Given the description of an element on the screen output the (x, y) to click on. 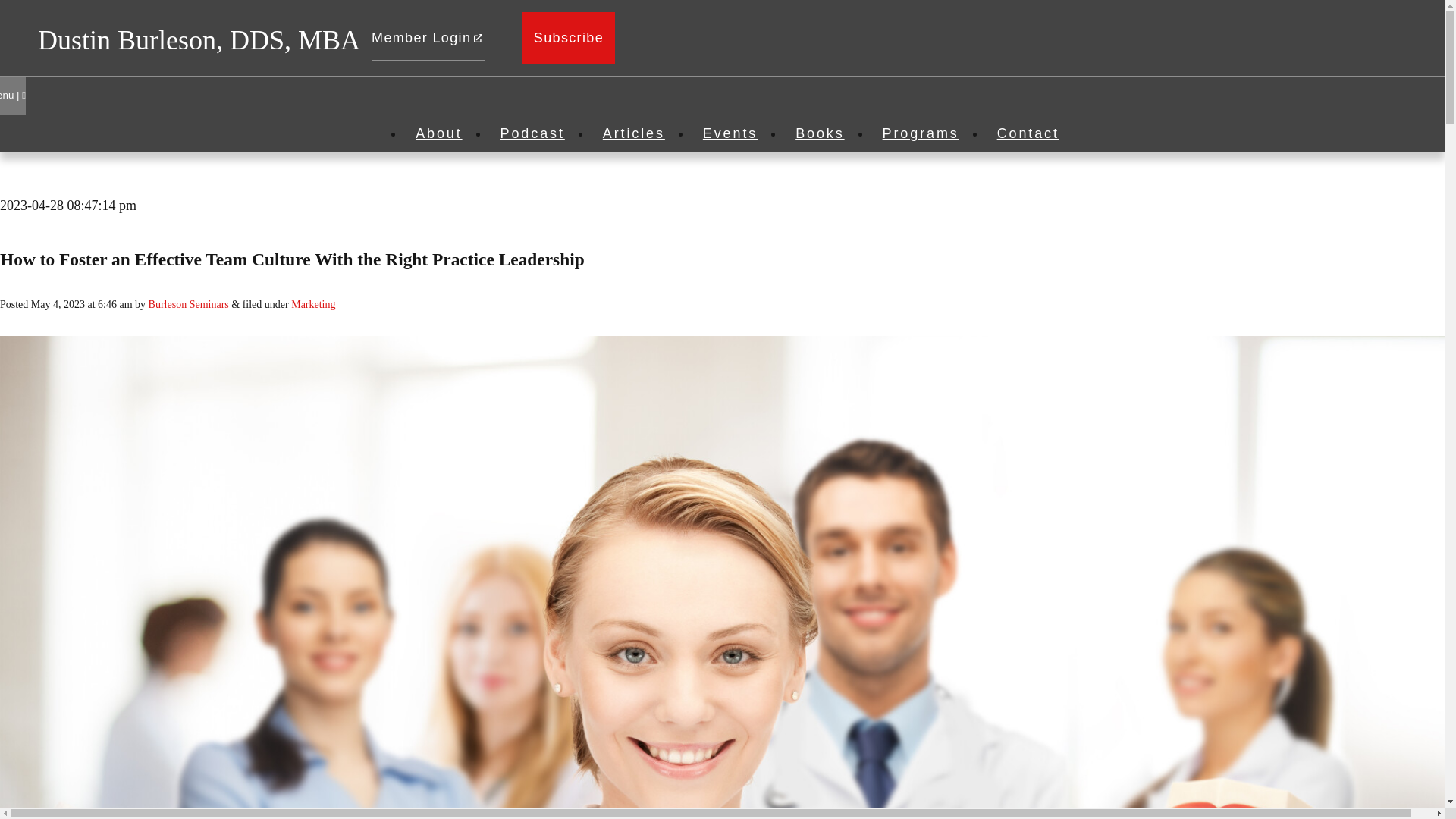
Books (820, 133)
Events (729, 133)
Articles (634, 133)
Member Login (427, 38)
Dustin Burleson, DDS, MBA (198, 39)
Burleson Seminars Home Page (198, 39)
Subscribe (568, 38)
Contact (1027, 133)
Burleson Seminars (188, 304)
Podcast (532, 133)
Programs (920, 133)
Marketing (312, 304)
About (438, 133)
Posts by Burleson Seminars (188, 304)
